Given the description of an element on the screen output the (x, y) to click on. 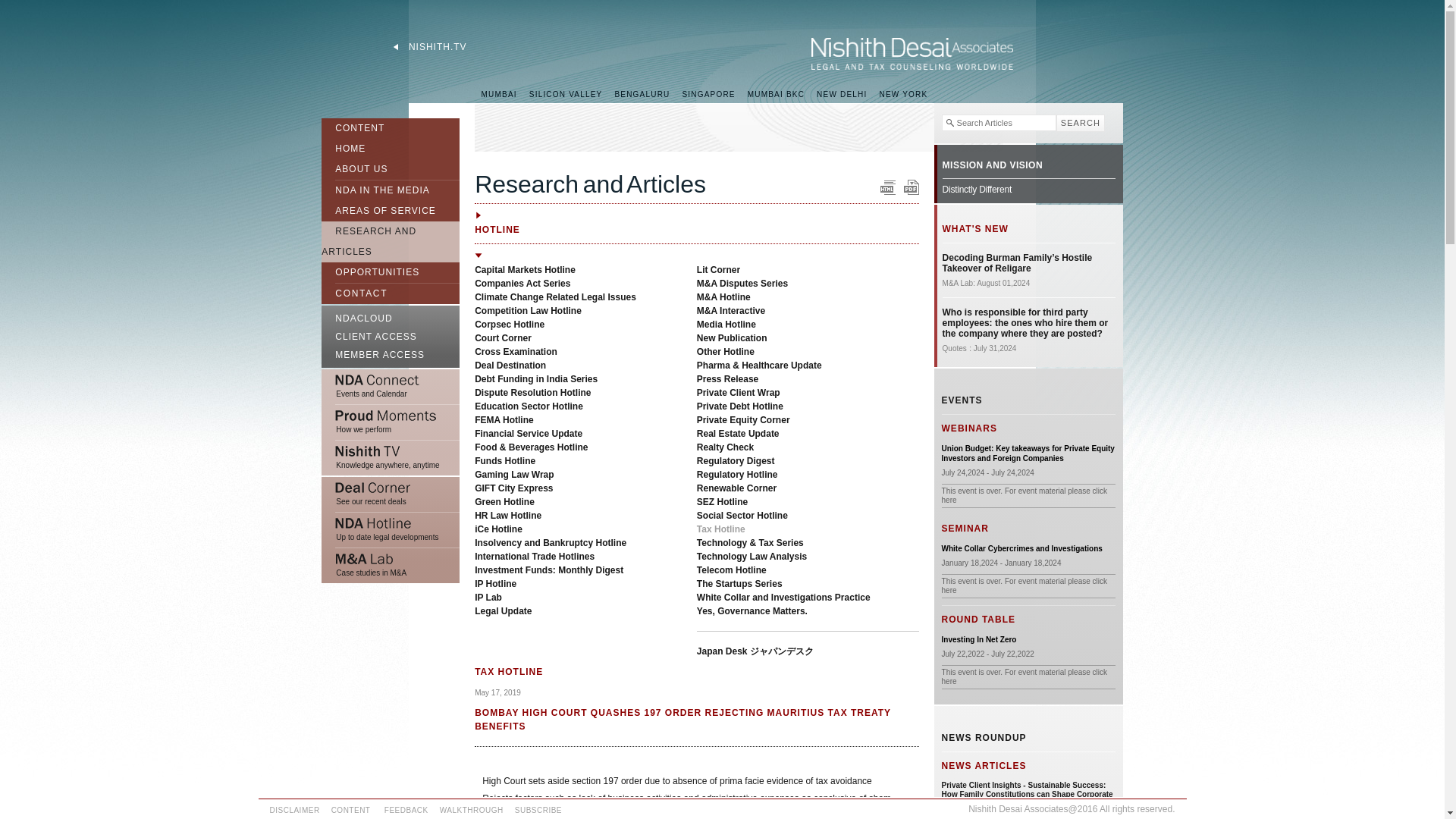
Conference (1022, 548)
NDACLOUD (390, 316)
See our recent deals (390, 494)
Events and Calendar (390, 386)
NEW YORK (902, 94)
CLIENT ACCESS (390, 336)
Knowledge anywhere, anytime (390, 457)
AREAS OF SERVICE (378, 210)
CONTENT (352, 125)
HOME (343, 148)
SILICON VALLEY (565, 94)
MEMBER ACCESS (390, 356)
MUMBAI (499, 94)
Round Table (979, 639)
